Given the description of an element on the screen output the (x, y) to click on. 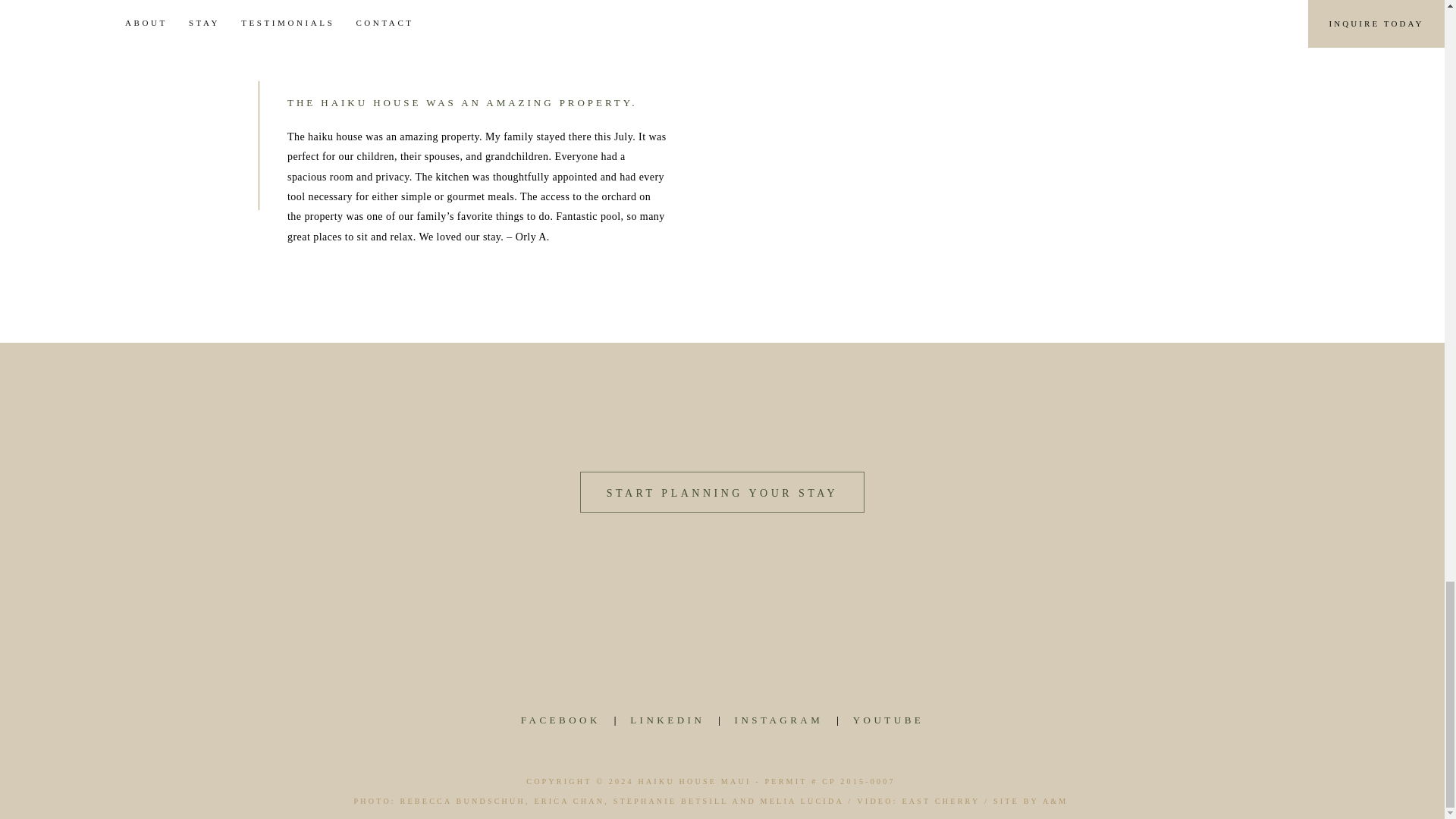
VIDEO: EAST CHERRY (918, 801)
START PLANNING YOUR STAY (721, 491)
LINKEDIN (667, 720)
FACEBOOK (560, 720)
INSTAGRAM (779, 720)
YOUTUBE (888, 720)
